Given the description of an element on the screen output the (x, y) to click on. 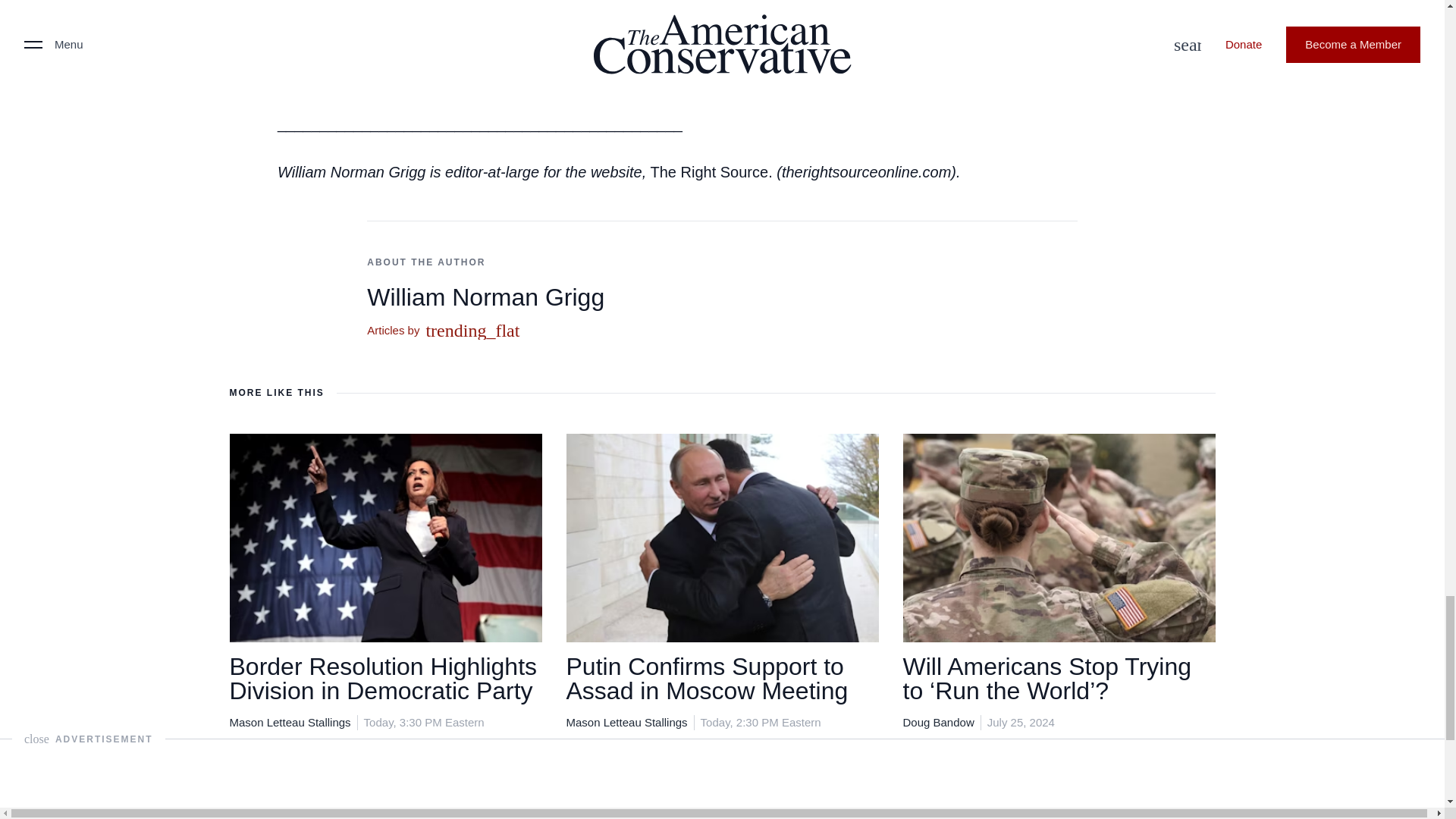
Mason Letteau Stallings (289, 721)
Border Resolution Highlights Division in Democratic Party (382, 678)
